Given the description of an element on the screen output the (x, y) to click on. 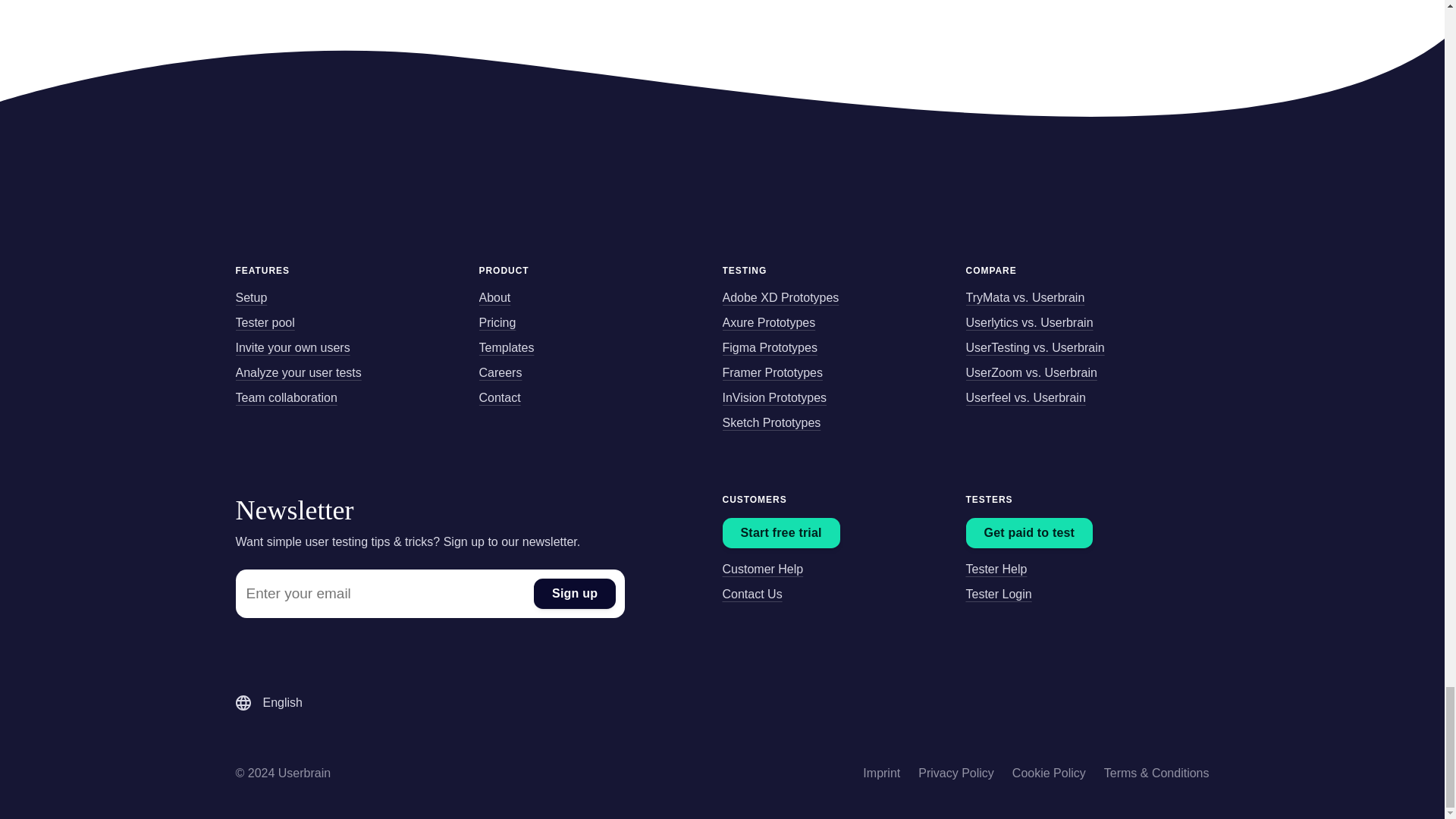
Invite your own users (291, 348)
LinkedIn (1177, 703)
YouTube (1091, 703)
Analyze your user tests (297, 372)
Setup (250, 298)
Tester pool (264, 322)
Facebook (1120, 703)
Twitter (1148, 703)
